Given the description of an element on the screen output the (x, y) to click on. 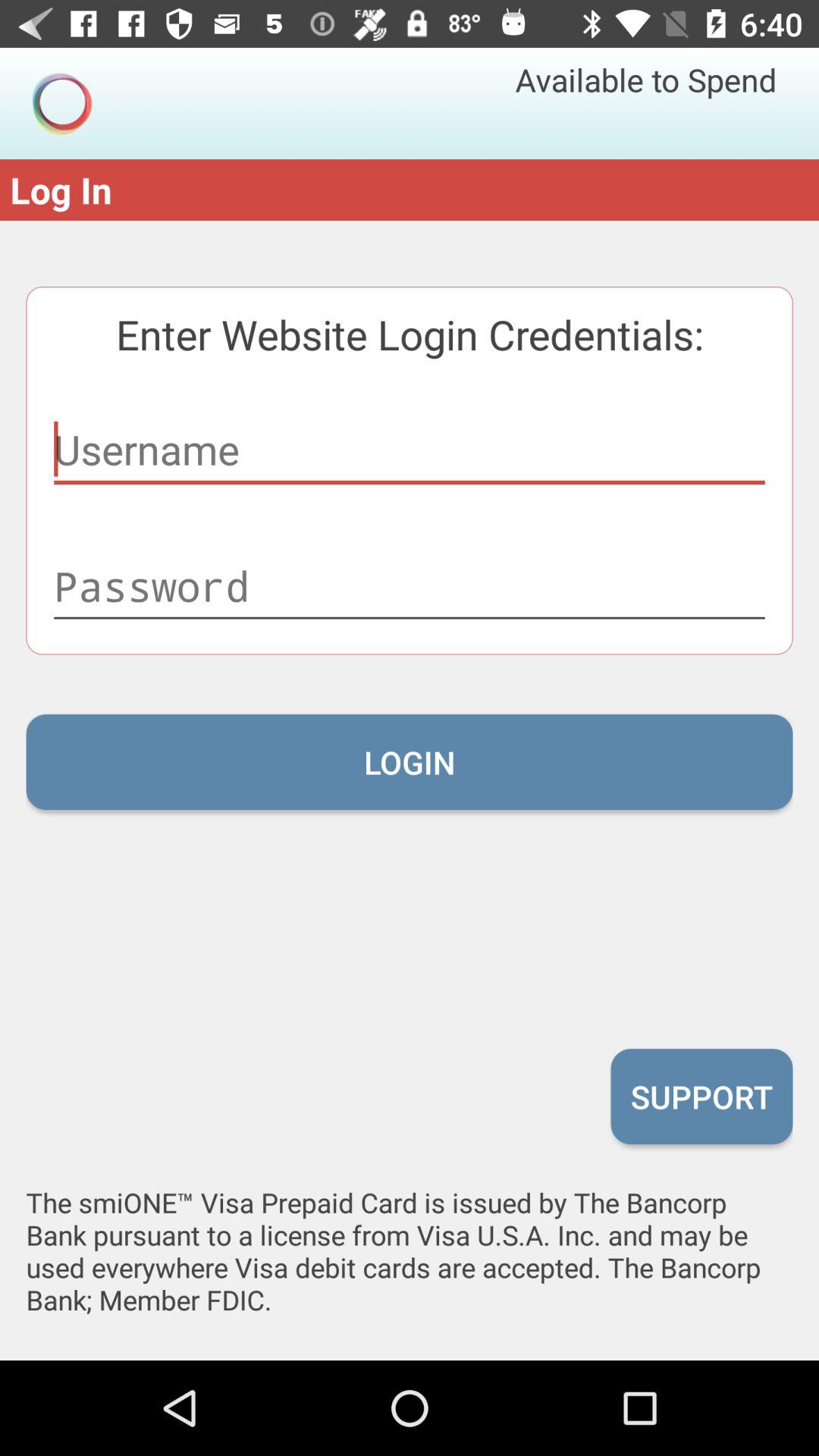
swipe to the support icon (701, 1096)
